Given the description of an element on the screen output the (x, y) to click on. 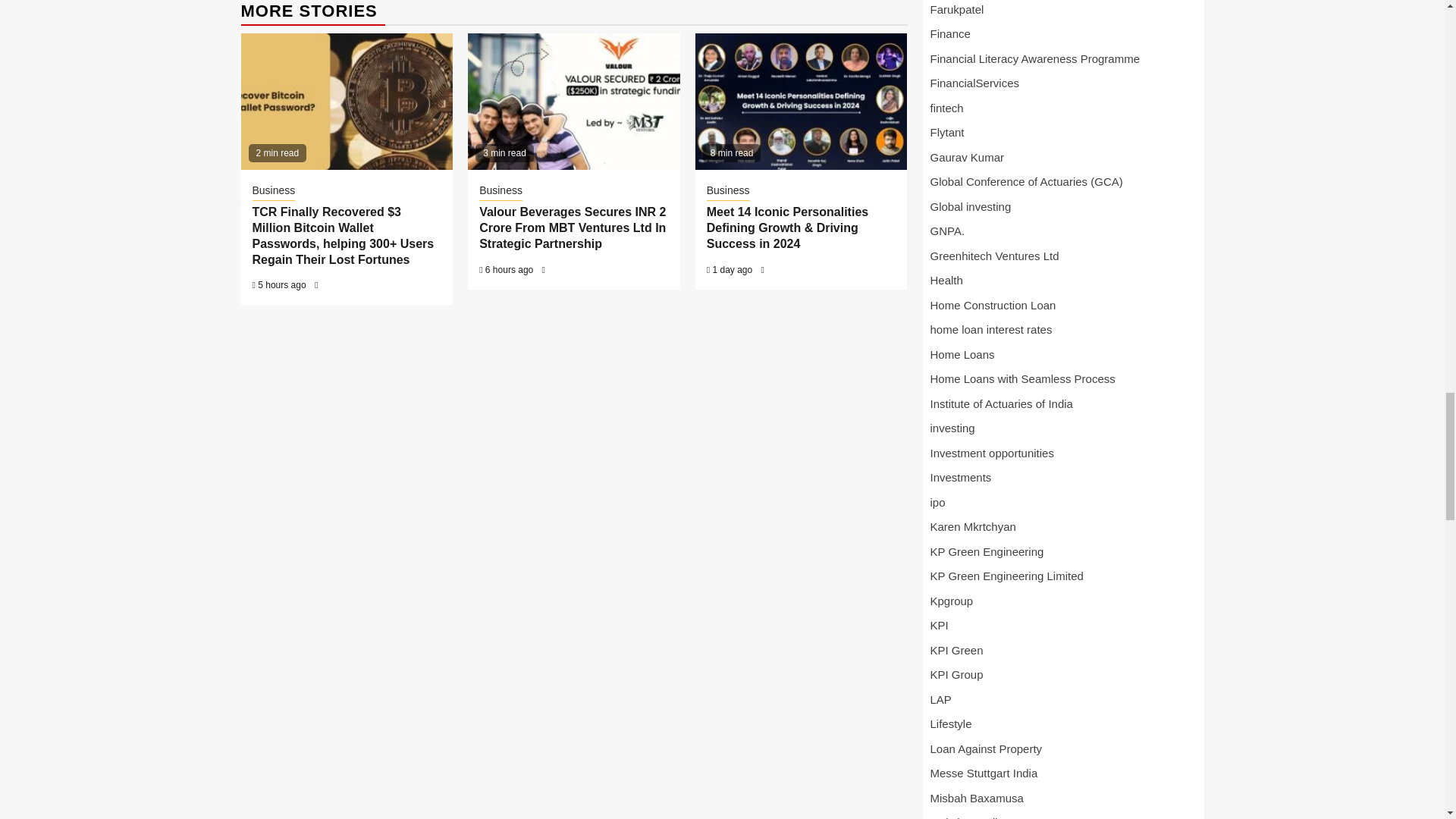
Business (727, 191)
Business (500, 191)
Business (273, 191)
